Given the description of an element on the screen output the (x, y) to click on. 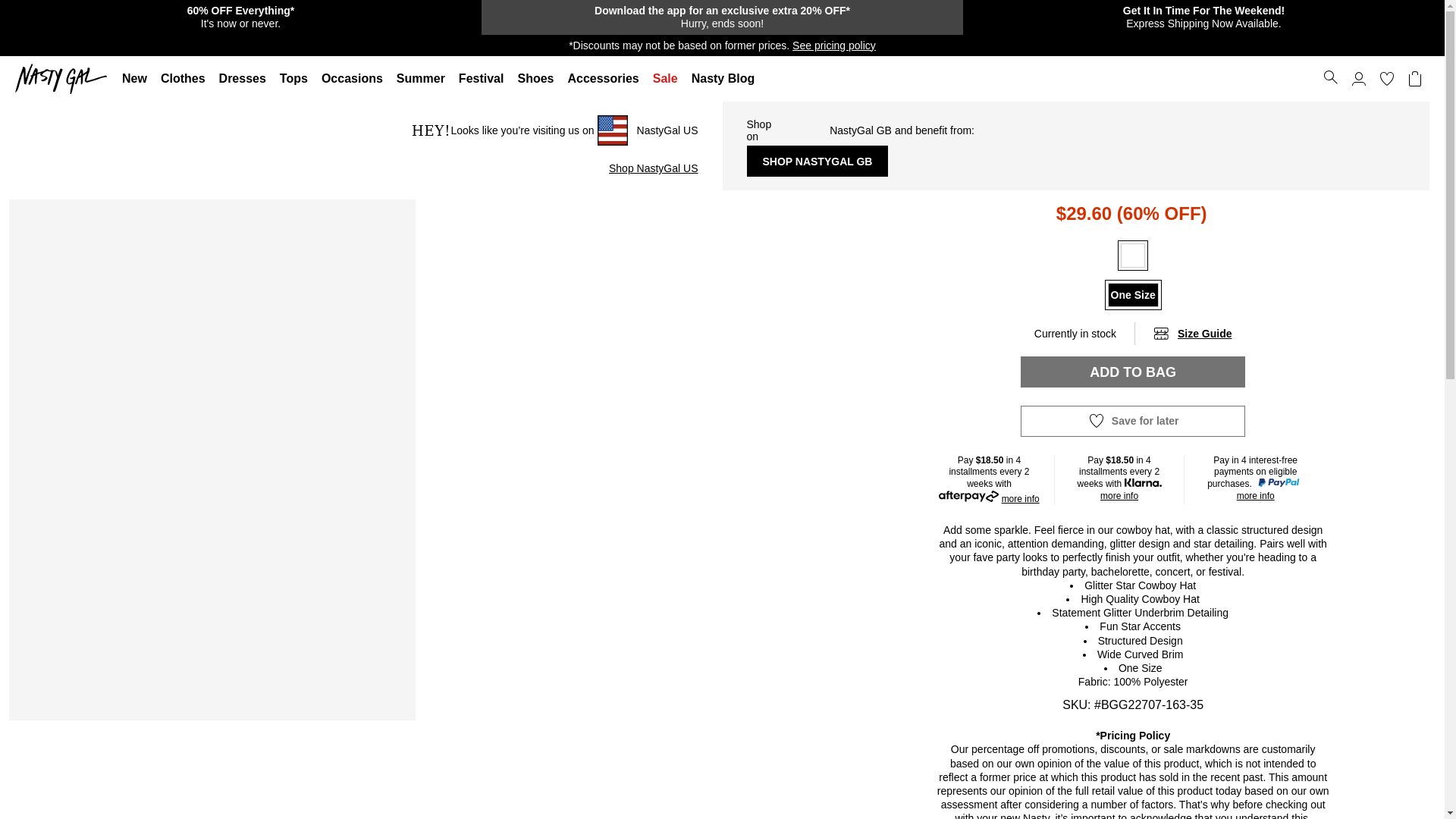
See pricing policy (834, 45)
Search (1330, 76)
Nasty Gal (64, 78)
Wish List (1386, 78)
